Given the description of an element on the screen output the (x, y) to click on. 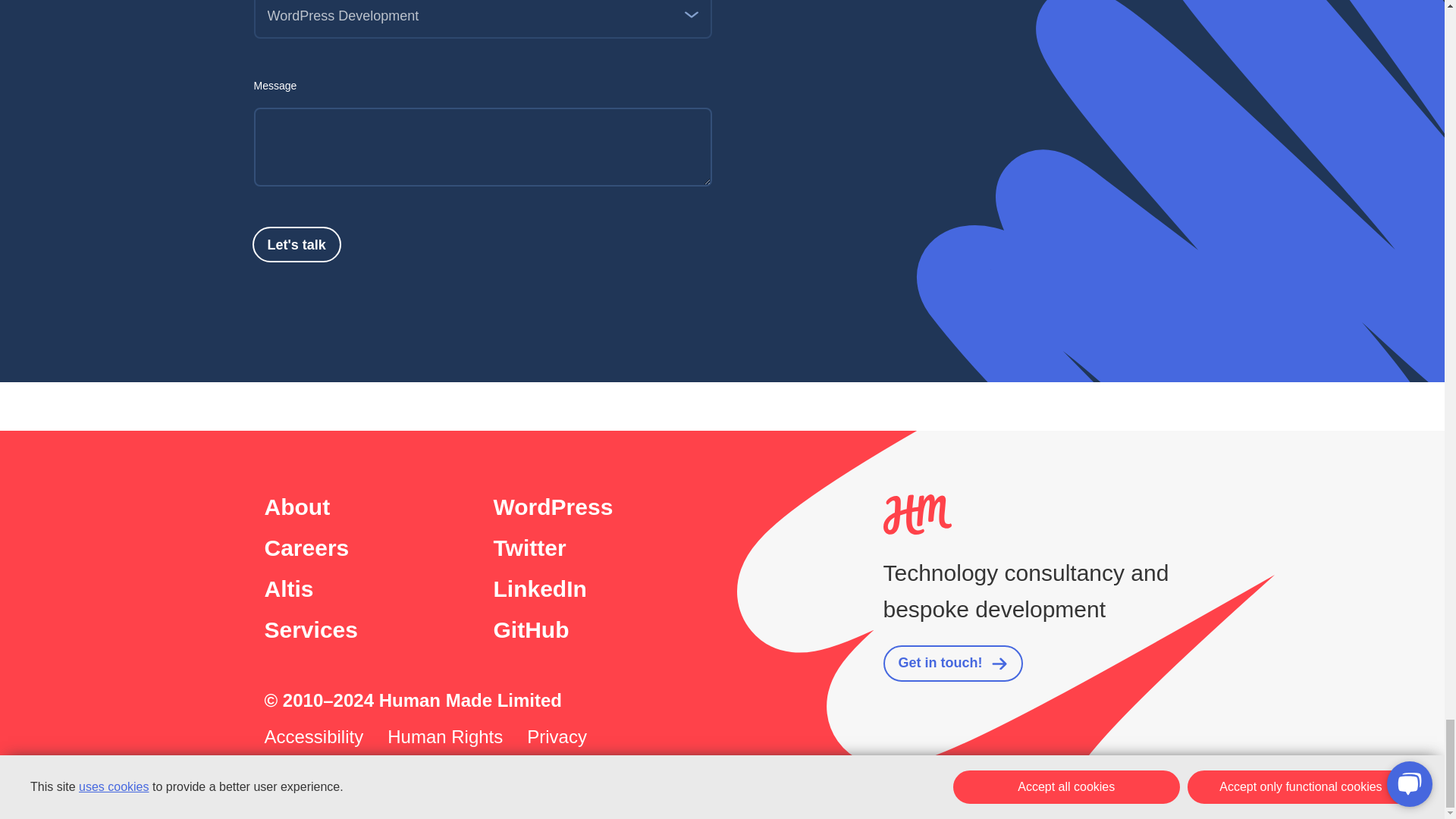
About (296, 507)
Altis (288, 588)
Let's talk (295, 244)
Services (309, 629)
Careers (306, 548)
Let's talk (295, 244)
